Given the description of an element on the screen output the (x, y) to click on. 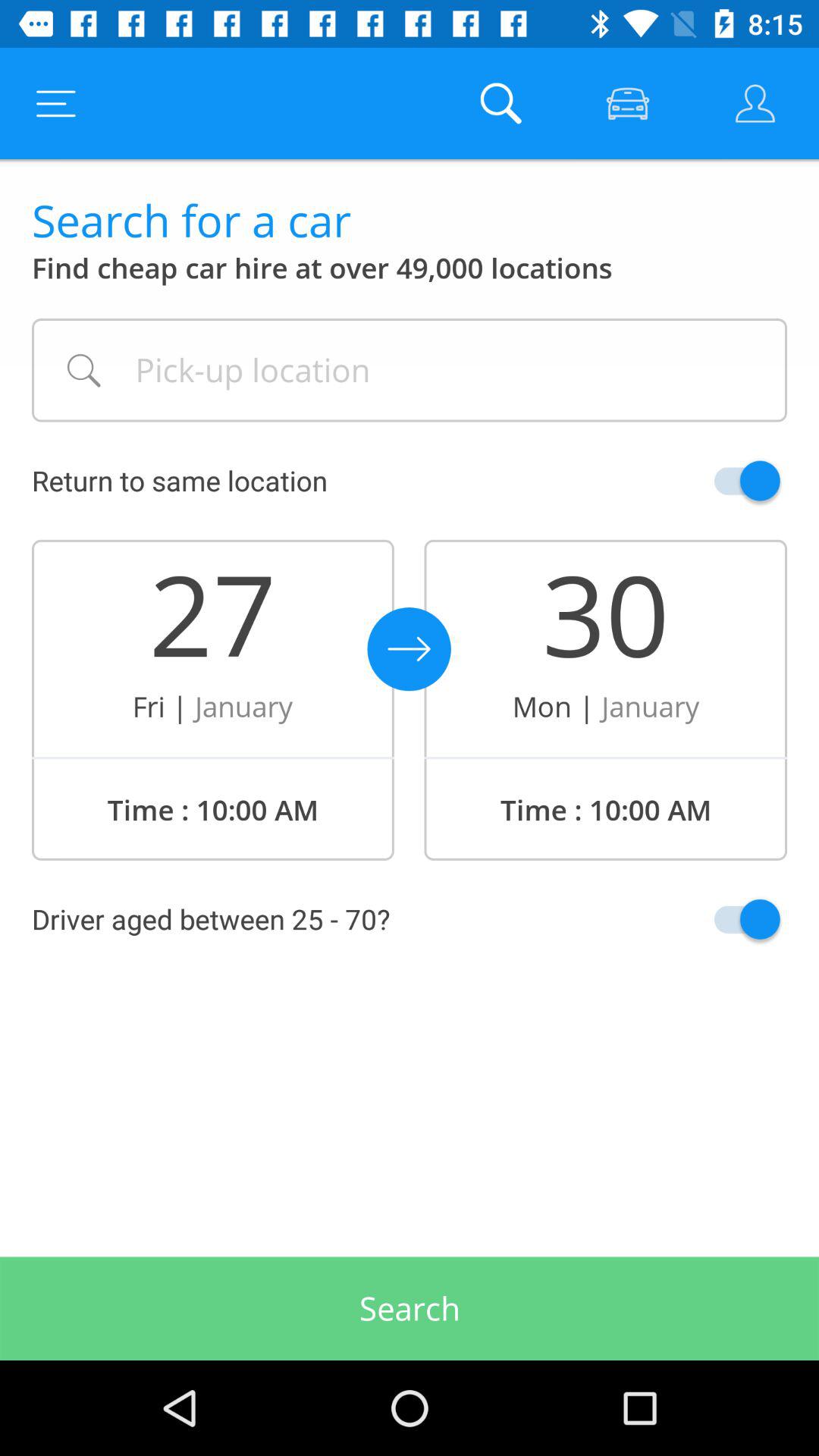
toggle if you 're a driver between age 25 to 70 (711, 919)
